Given the description of an element on the screen output the (x, y) to click on. 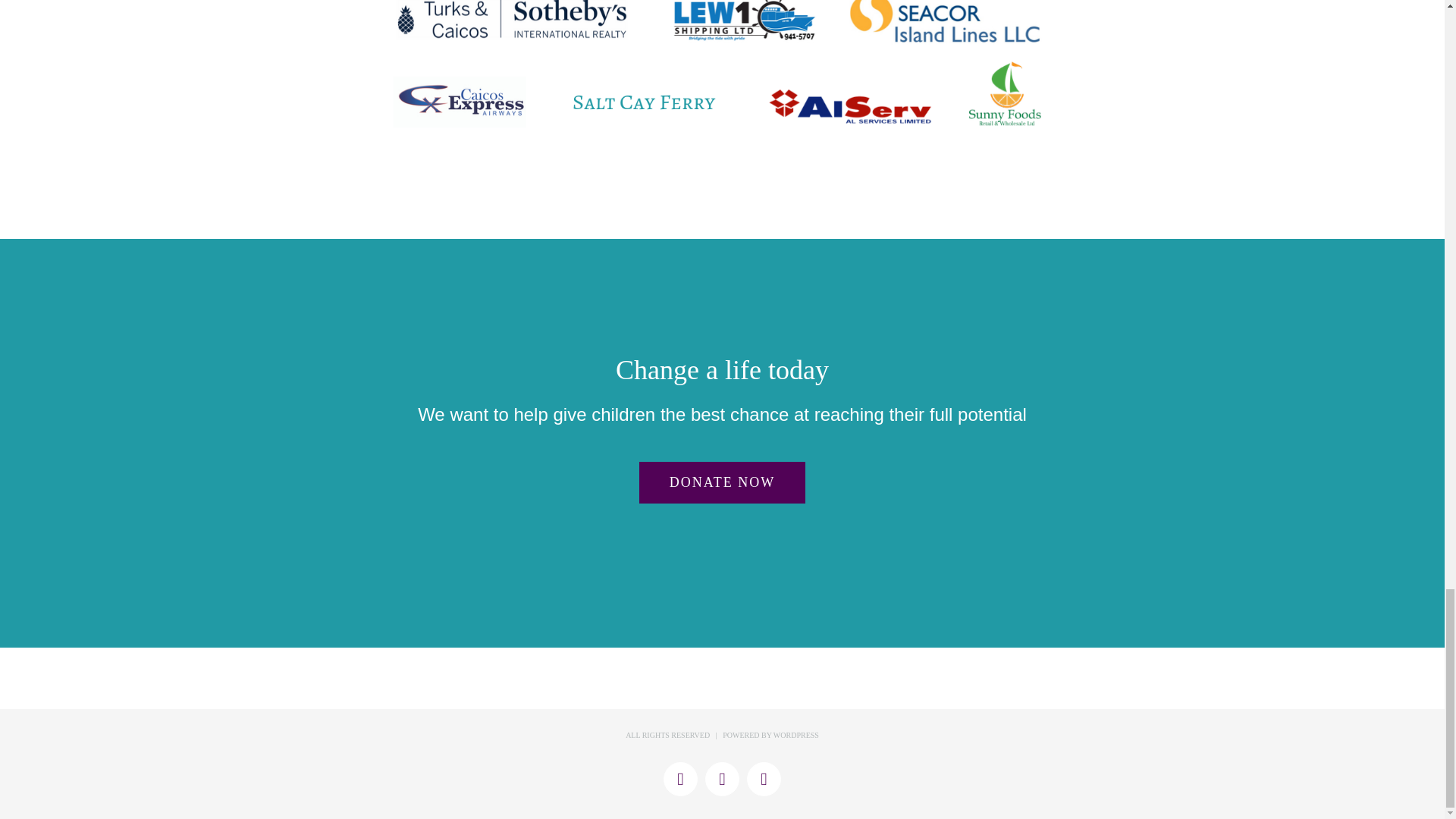
Instagram (763, 779)
Facebook (721, 779)
Twitter (680, 779)
